Given the description of an element on the screen output the (x, y) to click on. 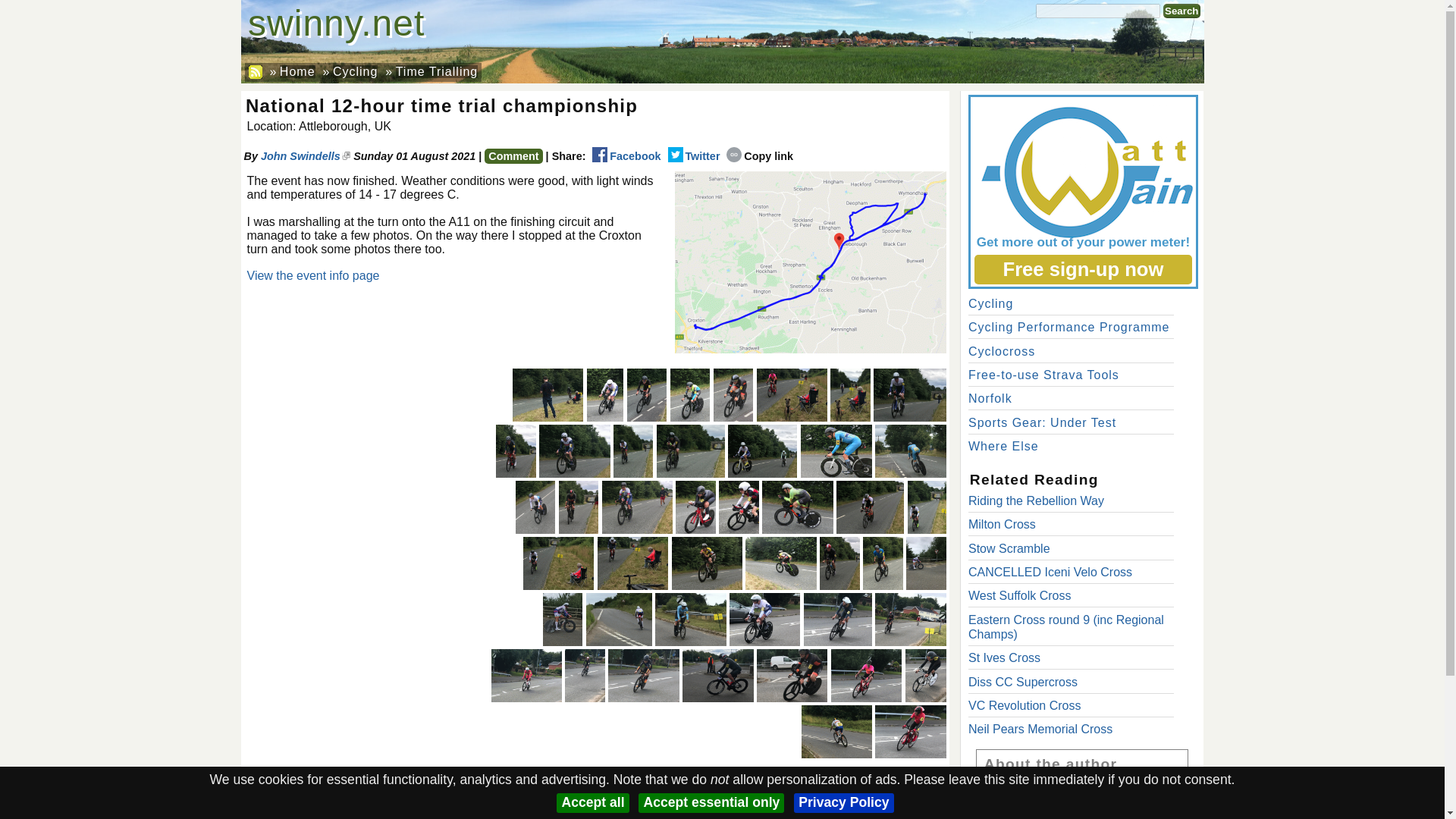
Comment (512, 155)
Search (1181, 11)
Twitter (692, 155)
National 12hr time trial (792, 394)
National 12hr time trial (762, 451)
John Swindells (305, 155)
National 12hr time trial (836, 451)
National 12hr time trial (908, 394)
National 12hr time trial (909, 451)
National 12hr time trial (547, 394)
